Given the description of an element on the screen output the (x, y) to click on. 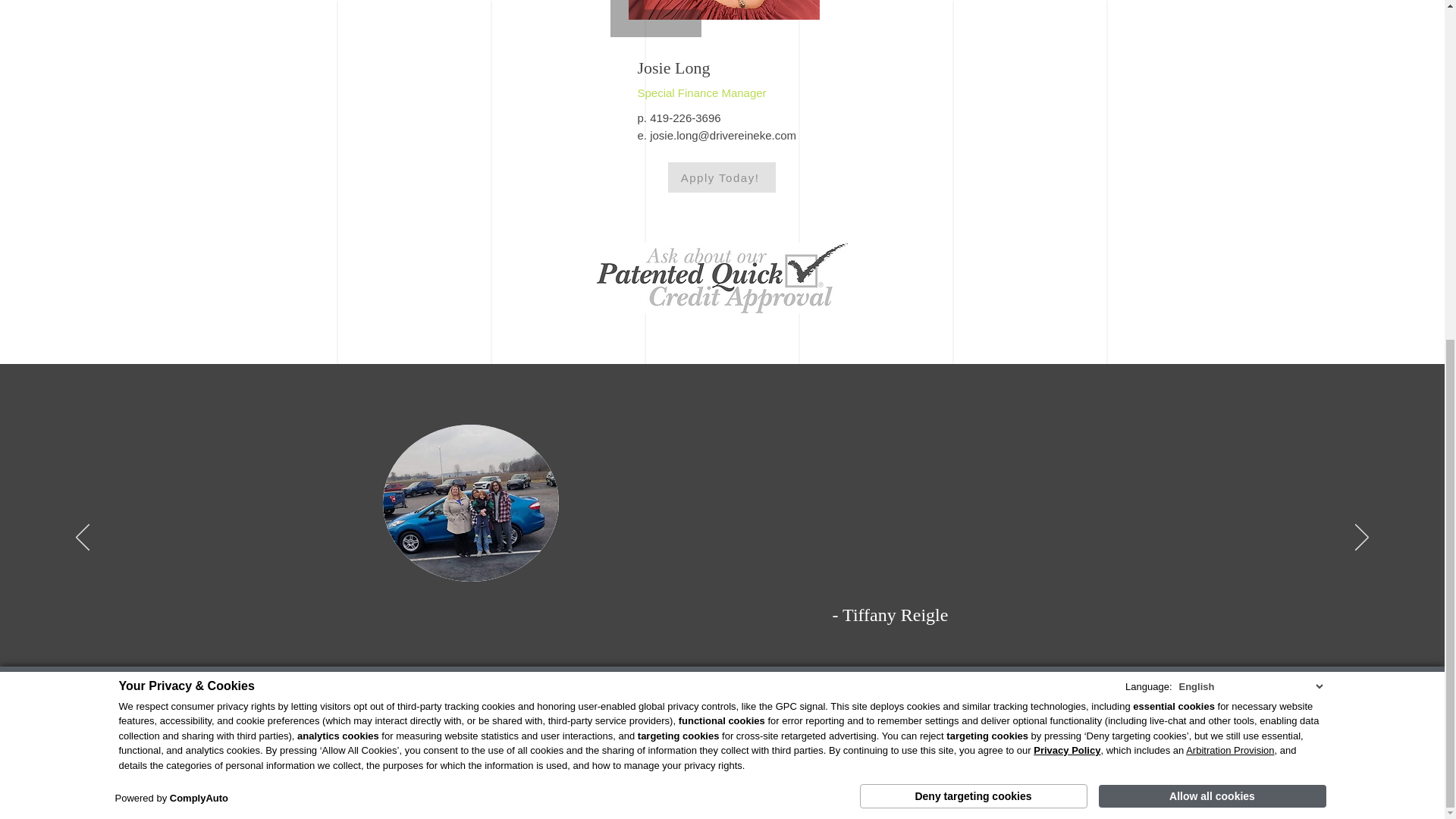
Privacy Policy (1066, 182)
Allow all cookies (1210, 220)
ComplyAuto (199, 223)
Apply Today! (720, 177)
Privacy Policy (877, 760)
Deny targeting cookies (973, 221)
Privacy Request (973, 758)
